Given the description of an element on the screen output the (x, y) to click on. 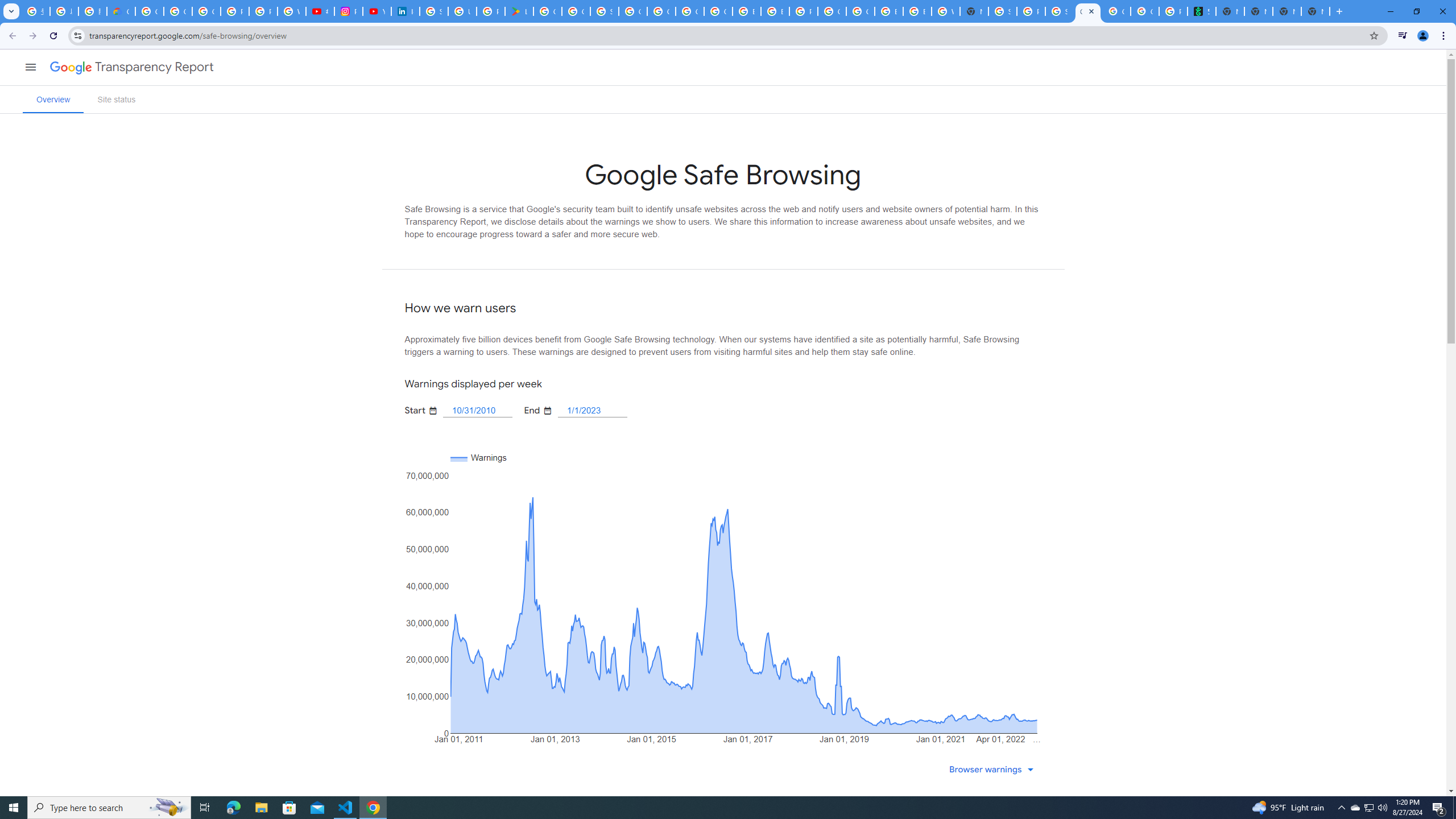
End (592, 409)
Control your music, videos, and more (1402, 35)
